Given the description of an element on the screen output the (x, y) to click on. 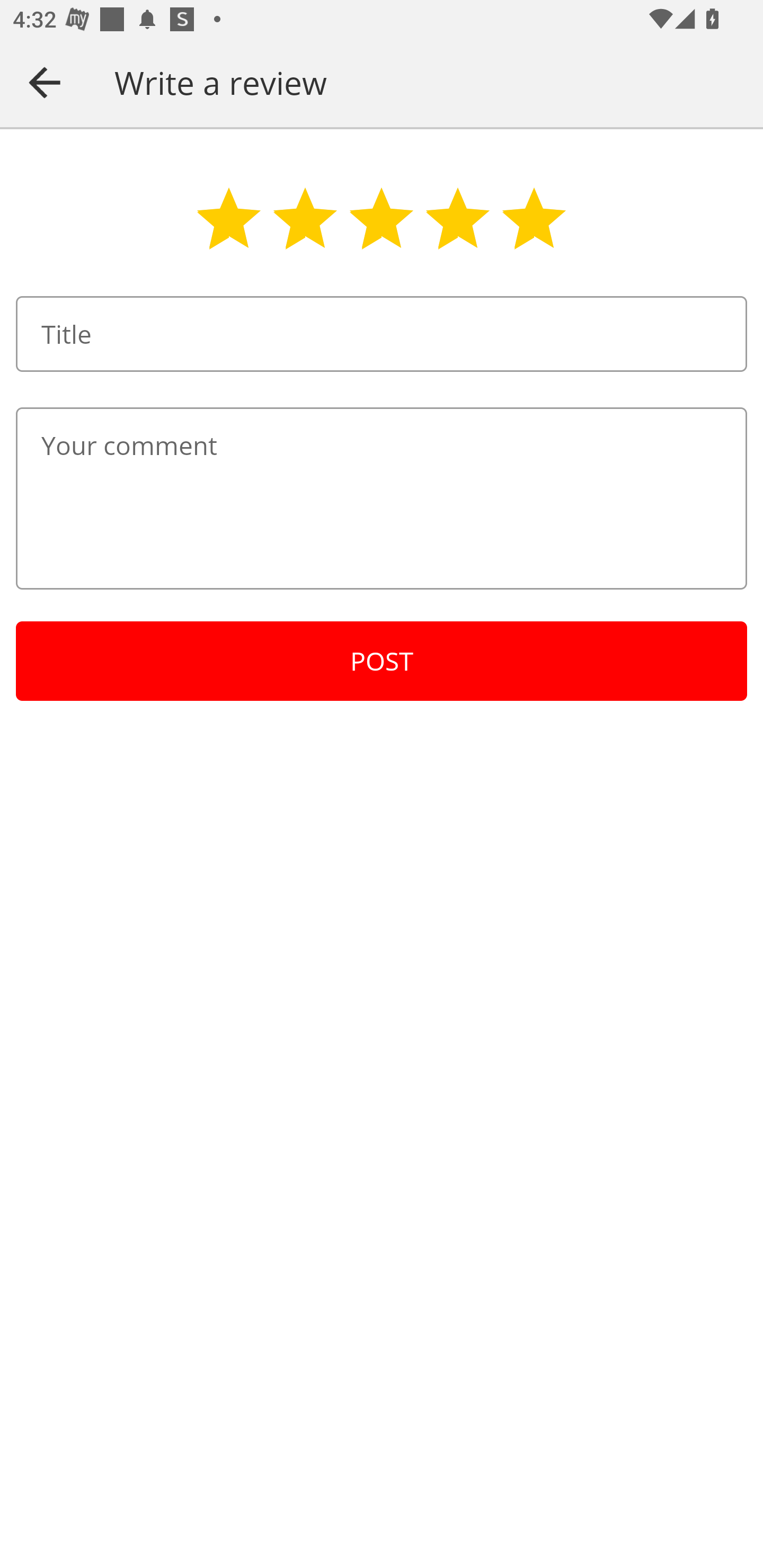
Navigate up (44, 82)
Title (381, 333)
Your comment (381, 498)
POST (381, 660)
